Given the description of an element on the screen output the (x, y) to click on. 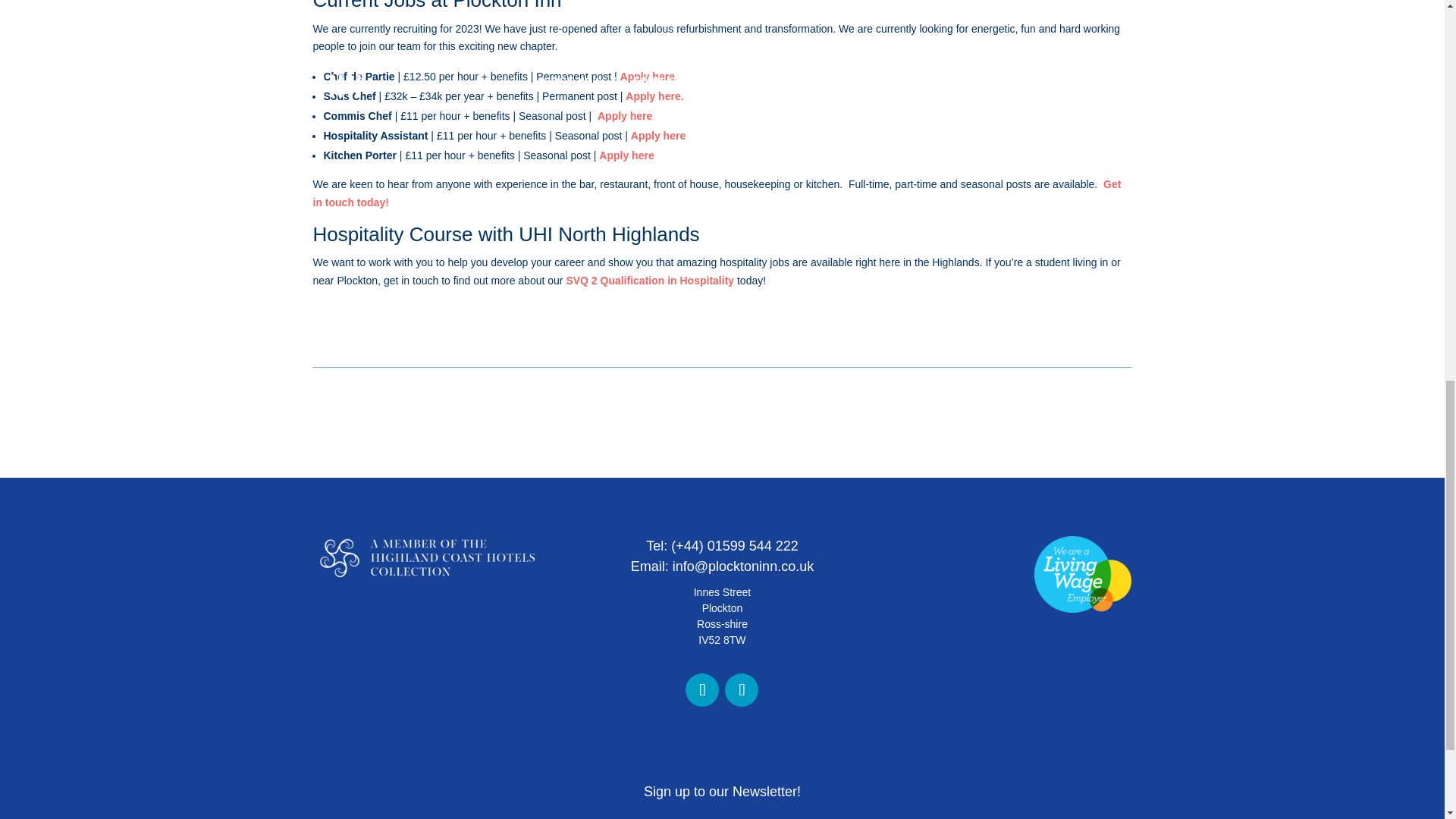
Follow on Instagram (741, 689)
HCH-logo-1 (426, 557)
Follow on Facebook (702, 689)
LW-Employer-logo-trans-300x237-1 (1082, 574)
